Given the description of an element on the screen output the (x, y) to click on. 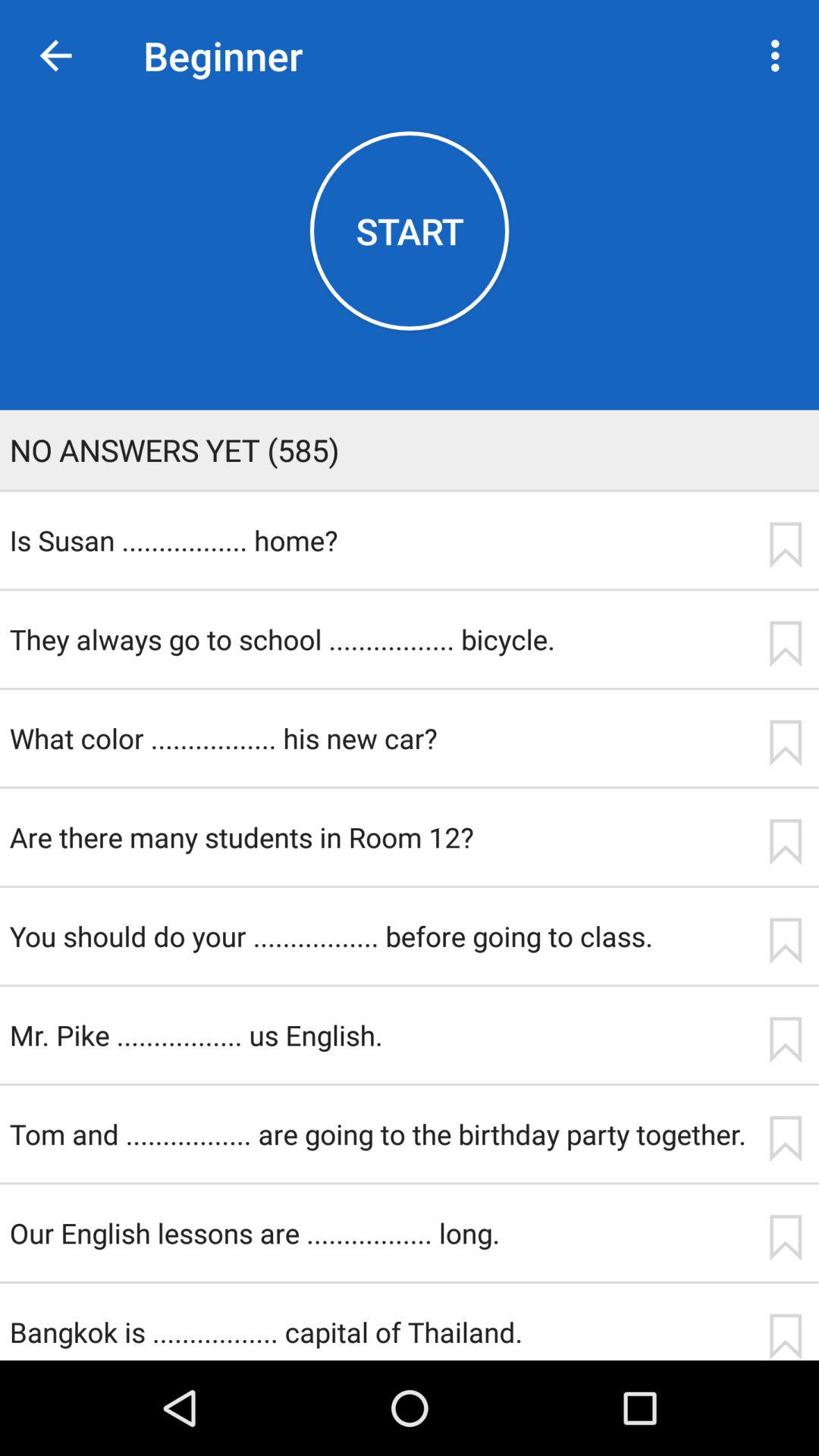
turn off the icon below beginner item (409, 230)
